Given the description of an element on the screen output the (x, y) to click on. 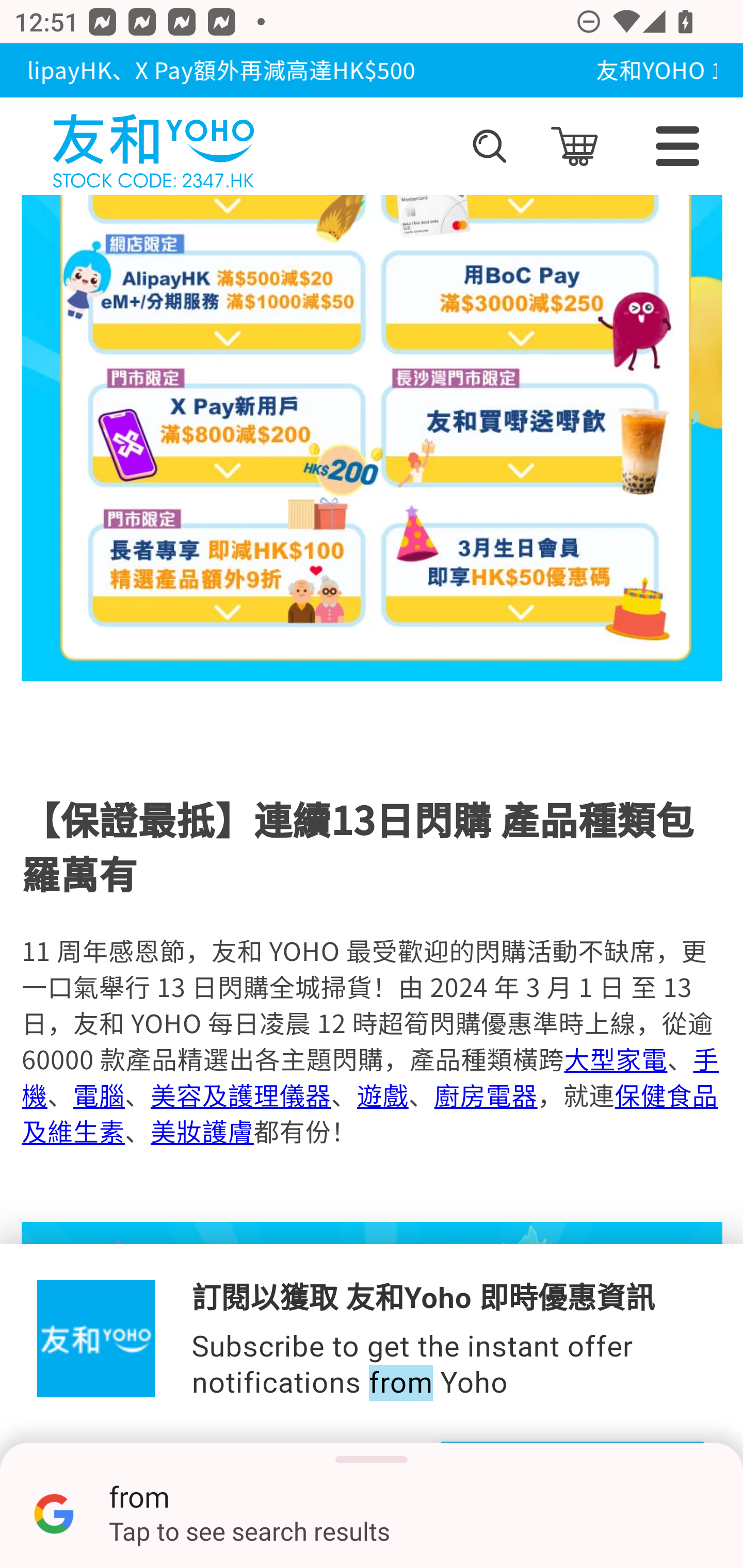
cart (574, 146)
友和 YOHO (153, 146)
手機 (370, 1077)
大型家電 (615, 1059)
保健食品及維生素 (369, 1113)
電腦 (99, 1095)
美容及護理儀器 (240, 1095)
遊戲 (382, 1095)
廚房電器 (485, 1095)
美妝護膚 (201, 1131)
flashdeal 1708889152547040623 (372, 1394)
